Given the description of an element on the screen output the (x, y) to click on. 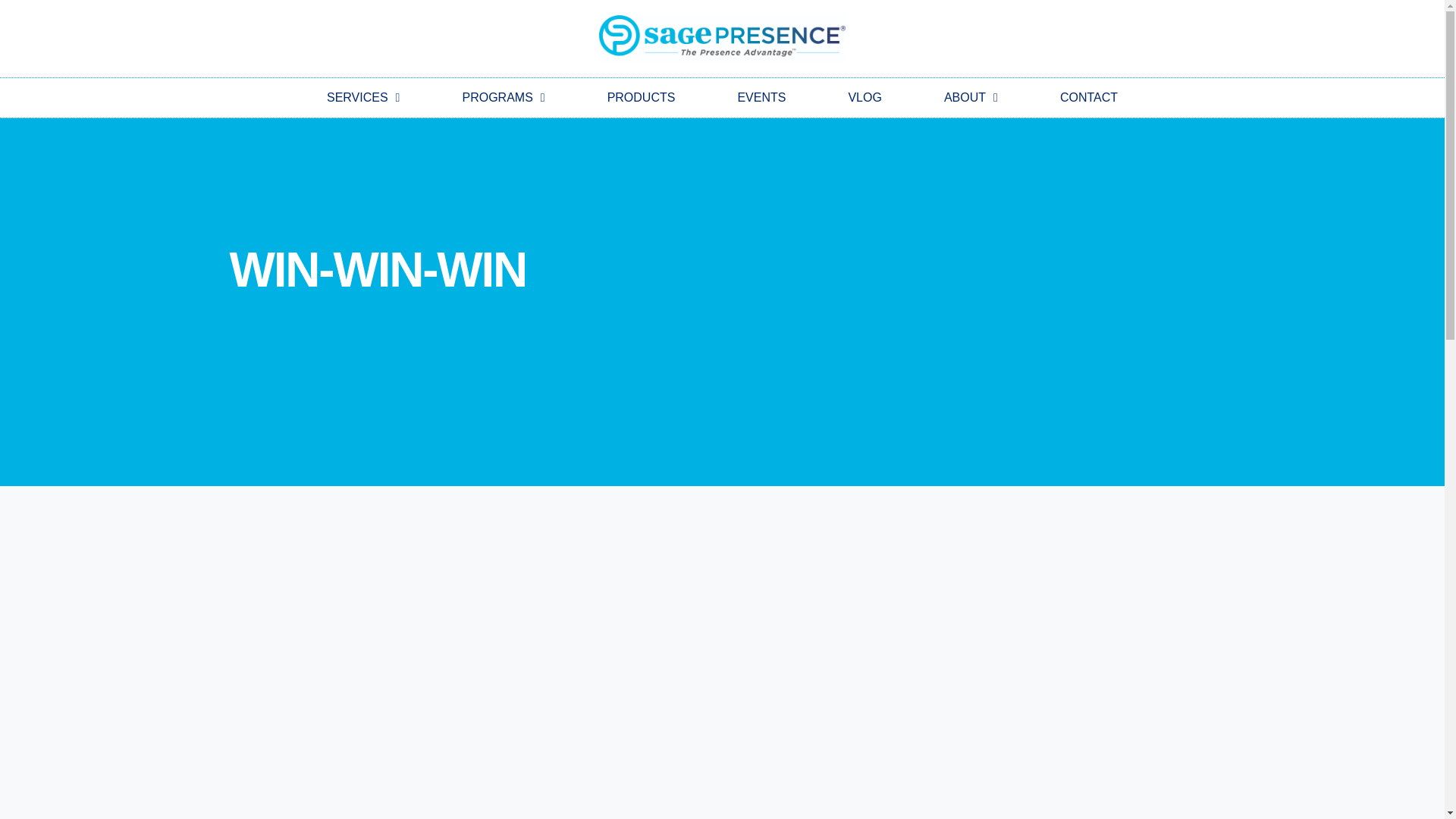
PROGRAMS (502, 97)
VLOG (864, 97)
CONTACT (1088, 97)
EVENTS (761, 97)
ABOUT (970, 97)
PRODUCTS (641, 97)
SERVICES (362, 97)
